Given the description of an element on the screen output the (x, y) to click on. 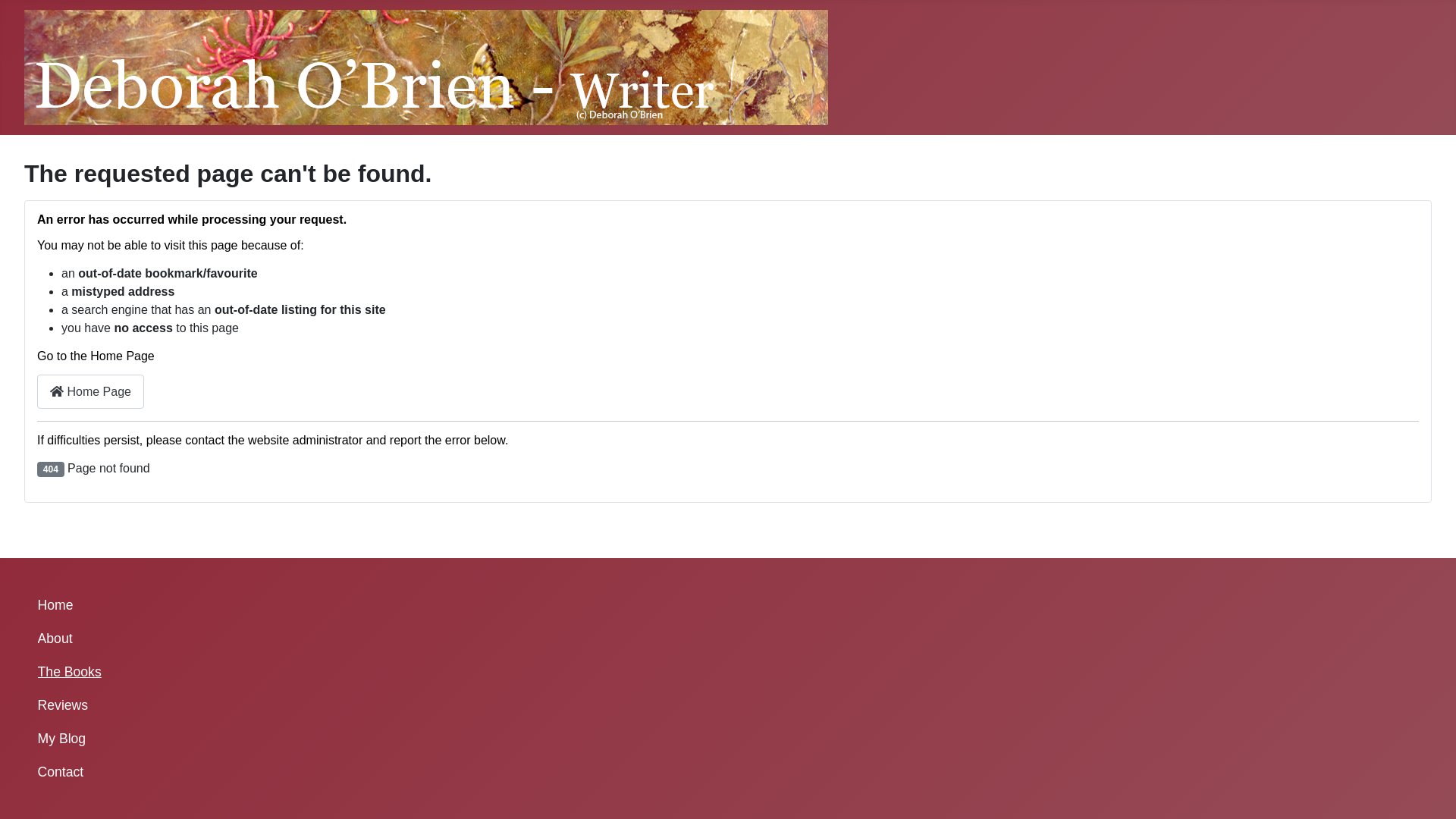
Home Page Element type: text (90, 391)
The Books Element type: text (69, 671)
Home Element type: text (55, 605)
My Blog Element type: text (61, 738)
About Element type: text (54, 638)
Contact Element type: text (60, 771)
Reviews Element type: text (62, 705)
